Given the description of an element on the screen output the (x, y) to click on. 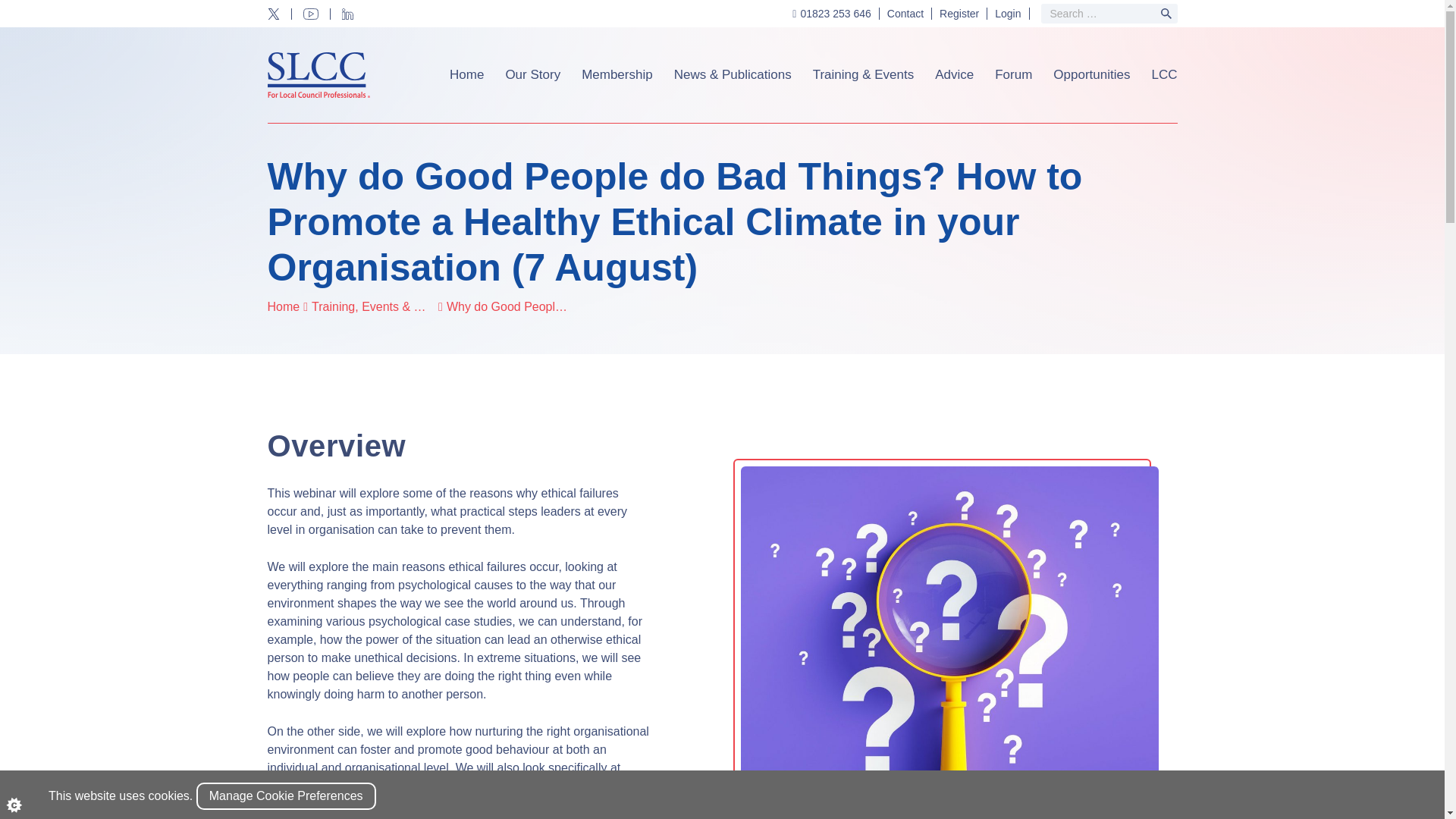
Our Story (532, 75)
Contact (905, 13)
Home (466, 75)
Membership (616, 75)
Register (959, 13)
Login (1008, 13)
SLCC (317, 74)
01823 253 646 (835, 13)
